Given the description of an element on the screen output the (x, y) to click on. 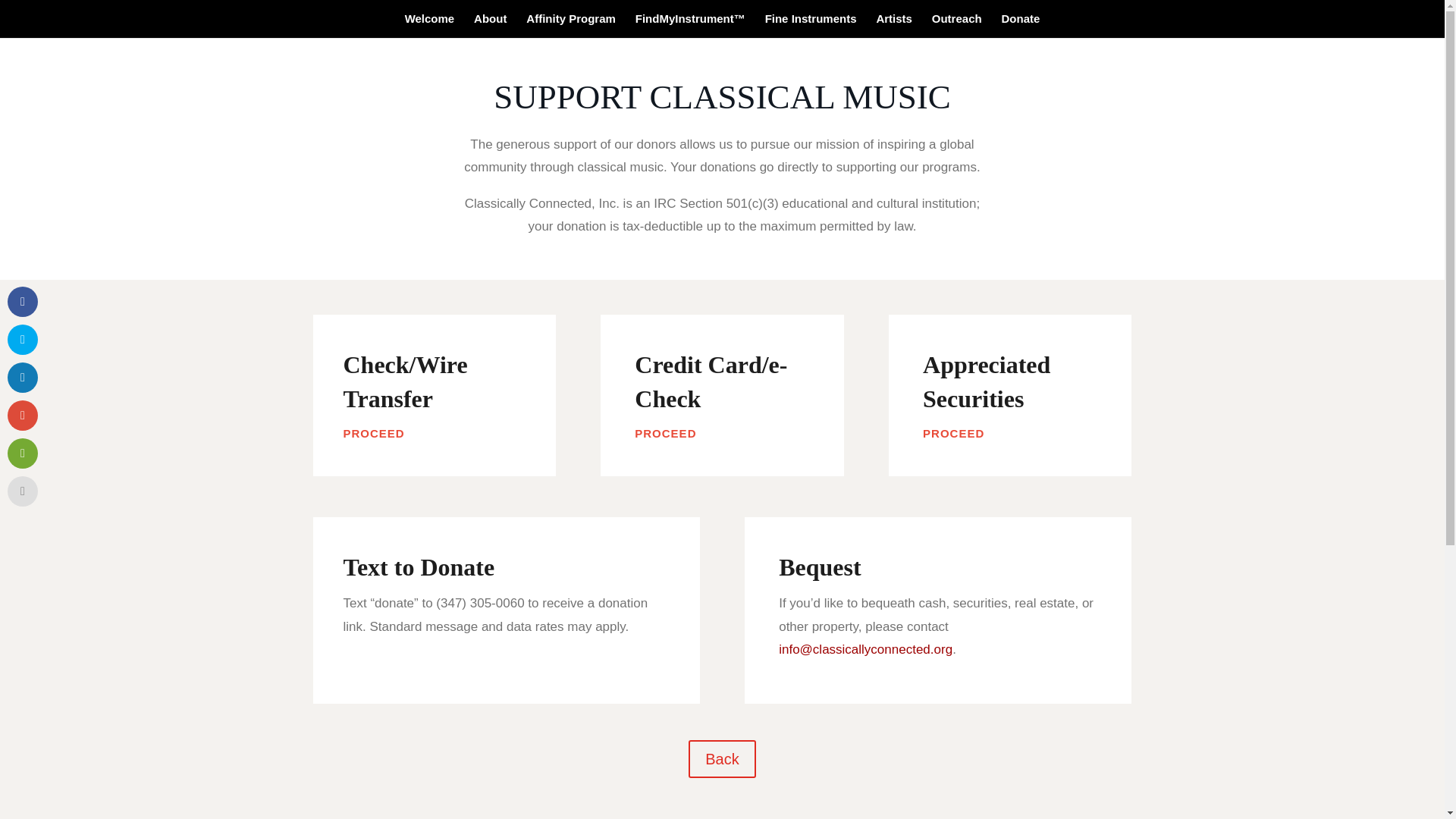
About (490, 25)
PROCEED (953, 433)
Donate (1021, 25)
PROCEED (373, 433)
Welcome (429, 25)
Outreach (956, 25)
PROCEED (664, 433)
Back (721, 759)
Fine Instruments (811, 25)
Artists (894, 25)
